Given the description of an element on the screen output the (x, y) to click on. 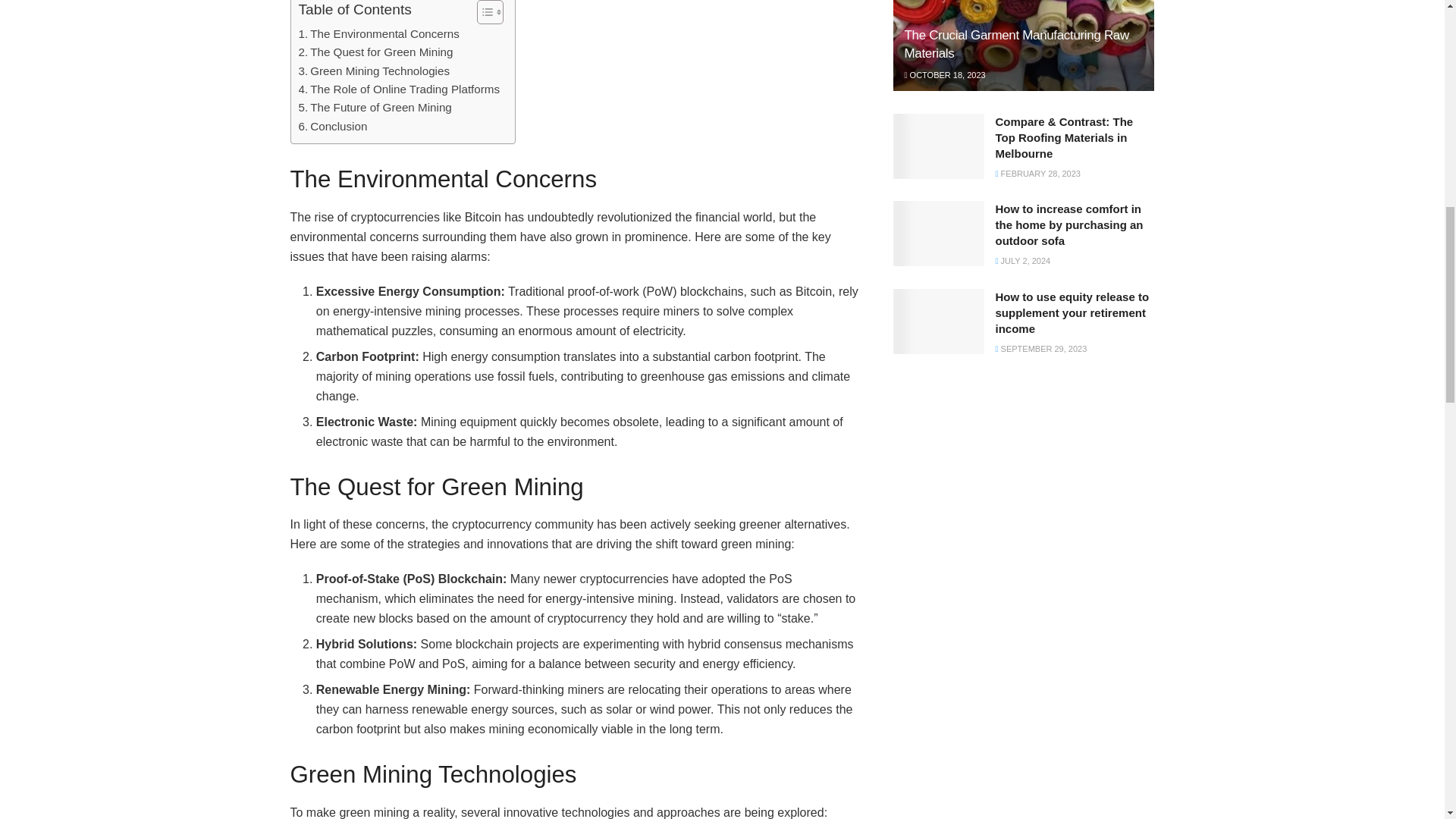
The Quest for Green Mining (375, 52)
Conclusion (333, 126)
The Role of Online Trading Platforms (399, 89)
Green Mining Technologies (373, 71)
The Environmental Concerns (379, 34)
The Future of Green Mining (374, 107)
